Given the description of an element on the screen output the (x, y) to click on. 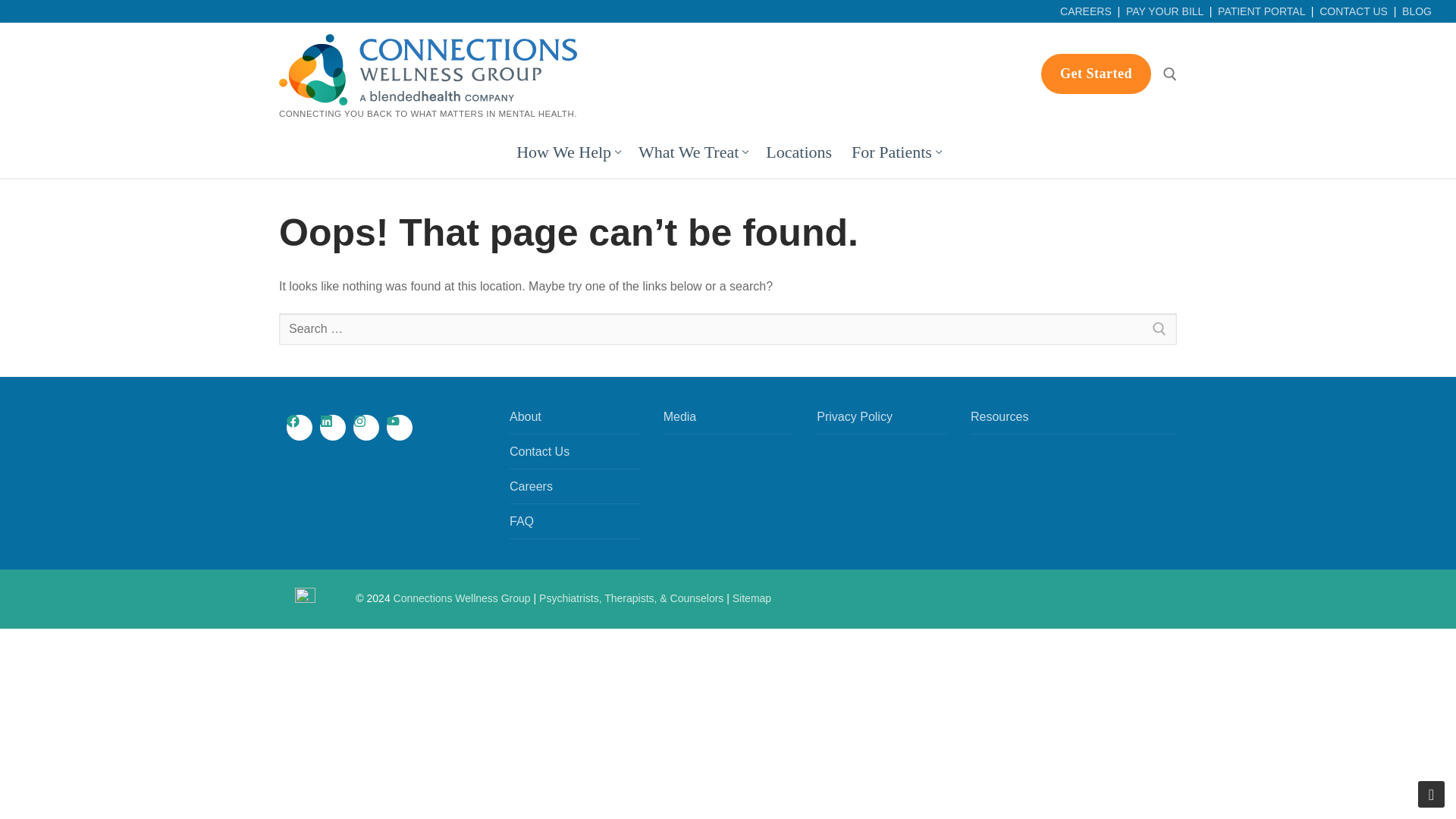
Search for: (727, 328)
PAY YOUR BILL (1164, 10)
CONTACT US (1353, 10)
CAREERS (1085, 10)
Get Started (1096, 74)
PATIENT PORTAL (691, 151)
BLOG (567, 151)
